Given the description of an element on the screen output the (x, y) to click on. 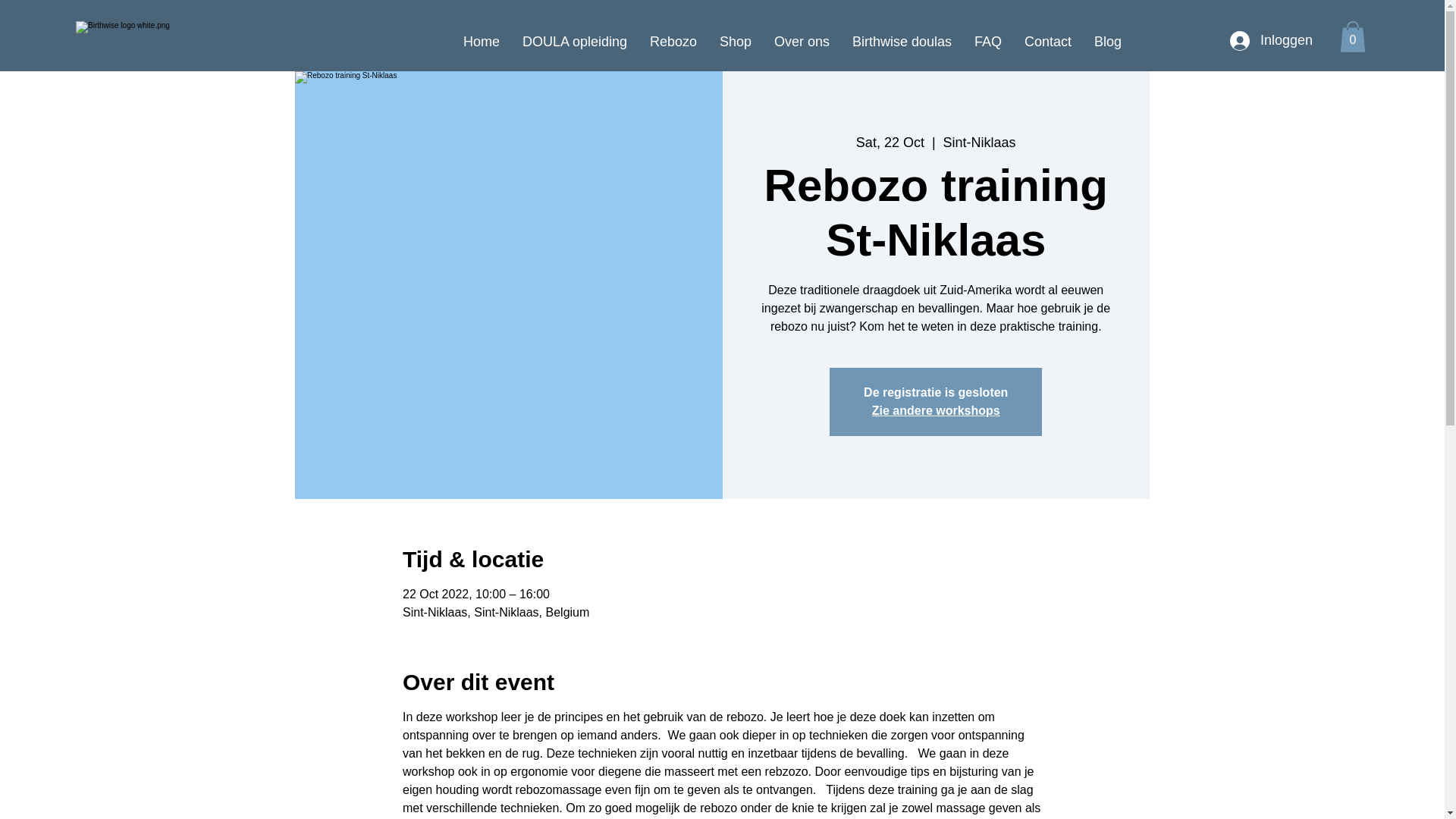
Rebozo Element type: text (673, 40)
0 Element type: text (1352, 36)
Over ons Element type: text (801, 40)
Zie andere workshops Element type: text (936, 410)
Birthwise doulas Element type: text (901, 40)
Home Element type: text (481, 40)
Shop Element type: text (735, 40)
Blog Element type: text (1107, 40)
DOULA opleiding Element type: text (574, 40)
Inloggen Element type: text (1271, 40)
FAQ Element type: text (988, 40)
Contact Element type: text (1047, 40)
